Given the description of an element on the screen output the (x, y) to click on. 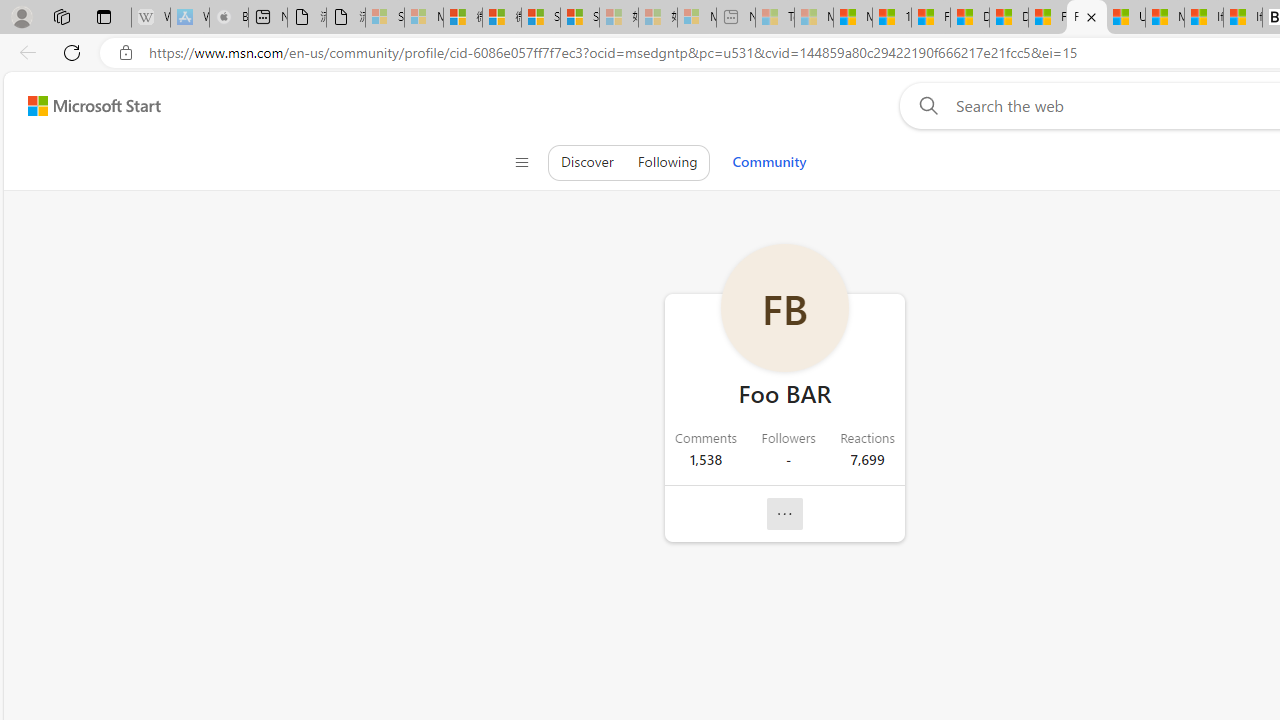
Foo BAR | Trusted Community Engagement and Contributions (1086, 17)
Class: control icon-only (521, 162)
Microsoft Services Agreement - Sleeping (423, 17)
Community (769, 162)
